Given the description of an element on the screen output the (x, y) to click on. 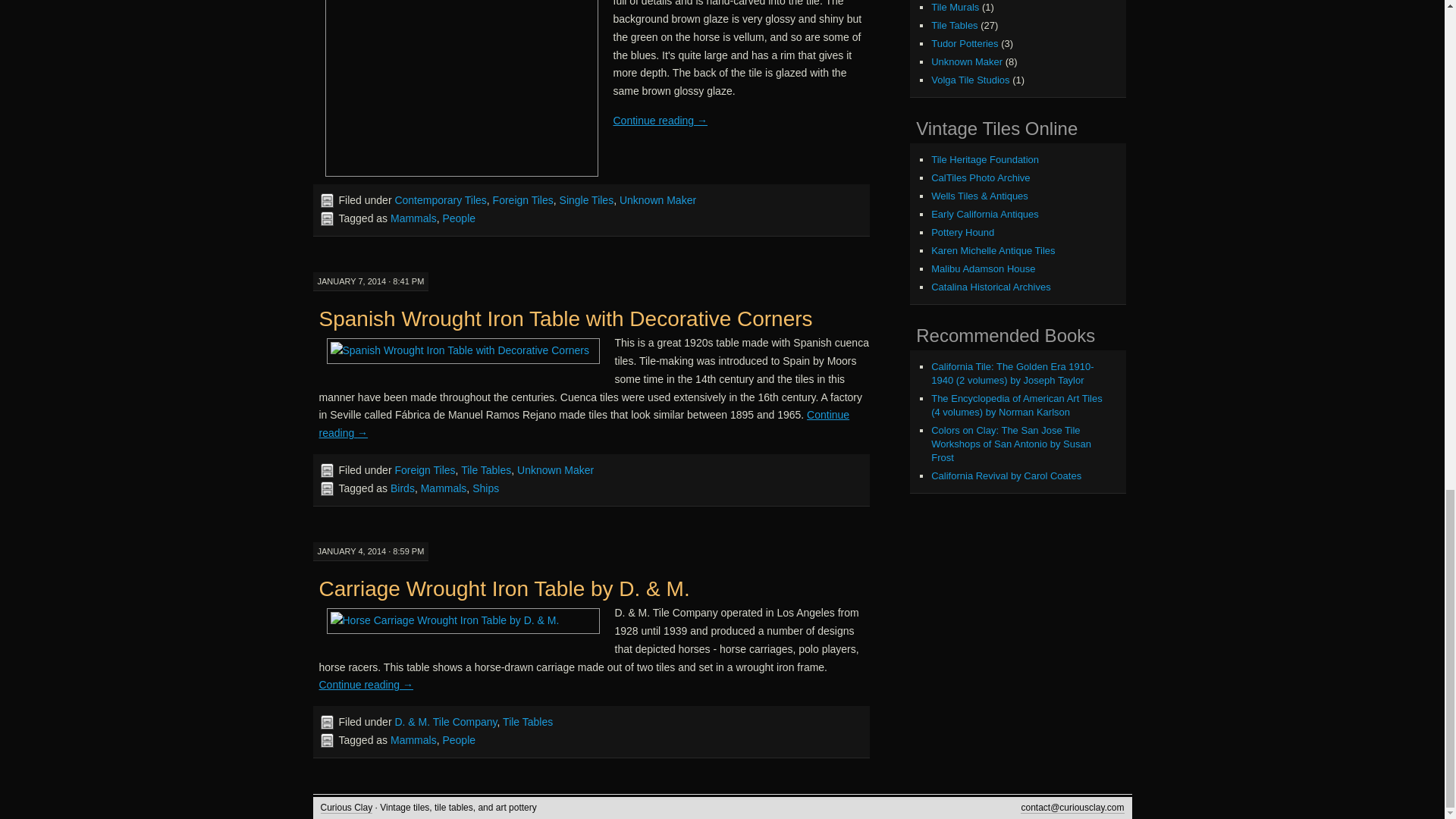
Tile Heritage Foundation (985, 159)
Birds (402, 488)
Unknown Maker (657, 200)
Foreign Tiles (523, 200)
Mammals (413, 218)
CalTiles Photo Archive (980, 177)
Spanish Wrought Iron Table with Decorative Corners (565, 318)
Ships (485, 488)
Single Tiles (586, 200)
Mammals (443, 488)
